Given the description of an element on the screen output the (x, y) to click on. 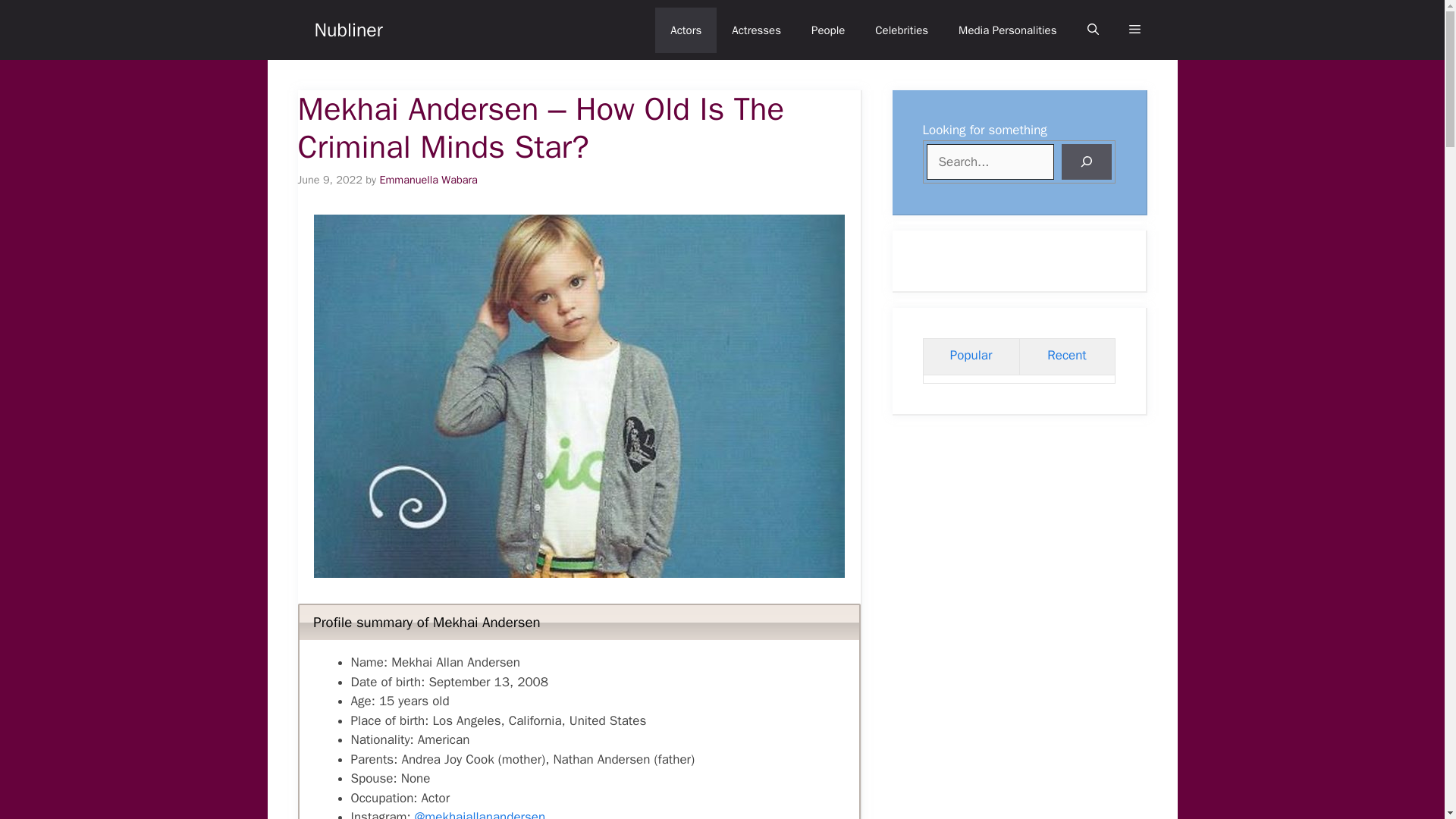
Actresses (756, 30)
Actors (685, 30)
Nubliner (347, 29)
Media Personalities (1007, 30)
People (828, 30)
View all posts by Emmanuella Wabara (427, 179)
Celebrities (901, 30)
Emmanuella Wabara (427, 179)
